Given the description of an element on the screen output the (x, y) to click on. 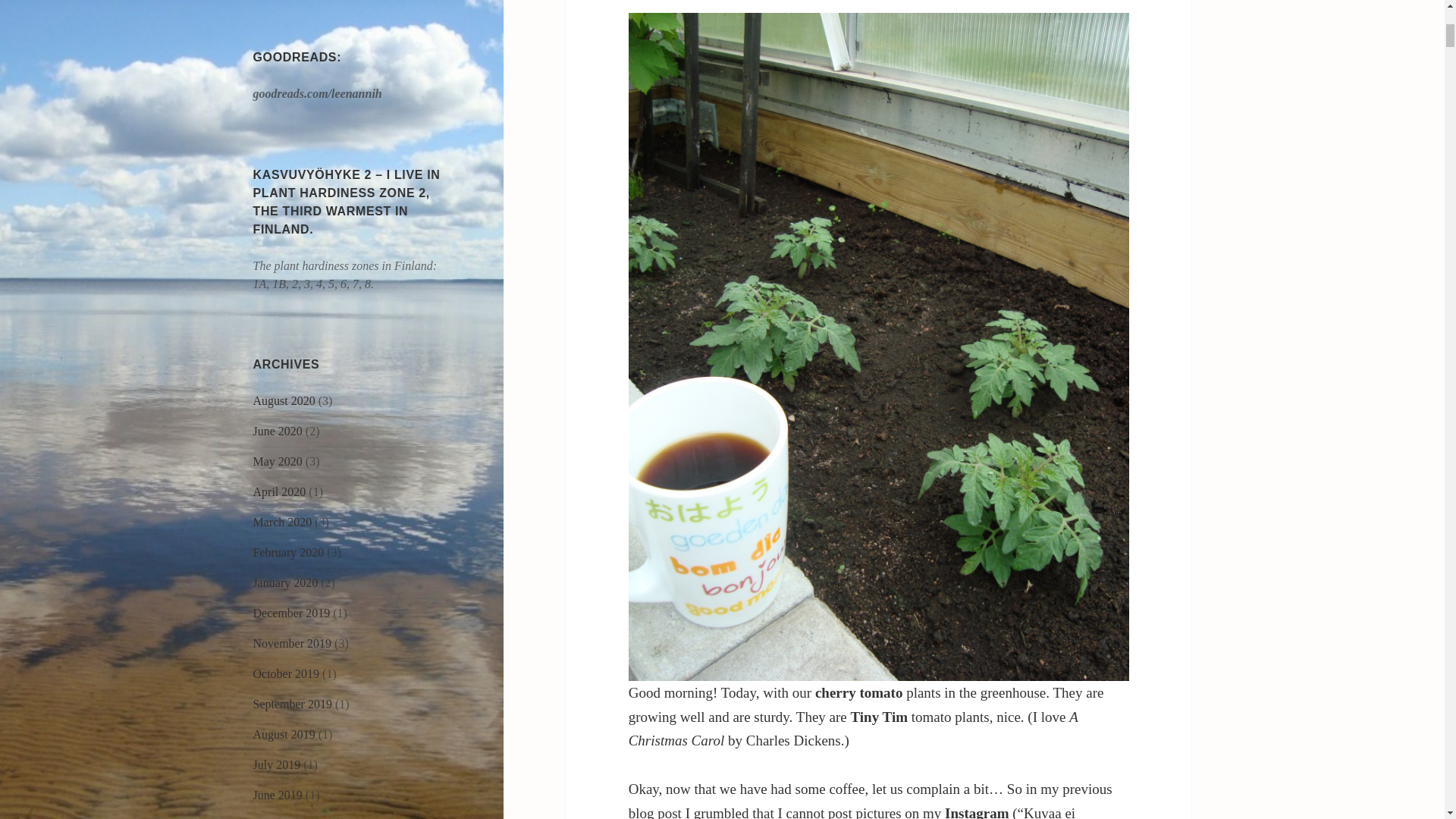
February 2020 (288, 552)
August 2020 (284, 400)
June 2019 (277, 794)
October 2019 (286, 673)
April 2020 (279, 491)
November 2019 (292, 643)
March 2020 (283, 521)
August 2019 (284, 734)
June 2020 (277, 431)
September 2019 (292, 703)
January 2020 (285, 582)
July 2019 (277, 764)
May 2020 (277, 461)
December 2019 (291, 612)
